Given the description of an element on the screen output the (x, y) to click on. 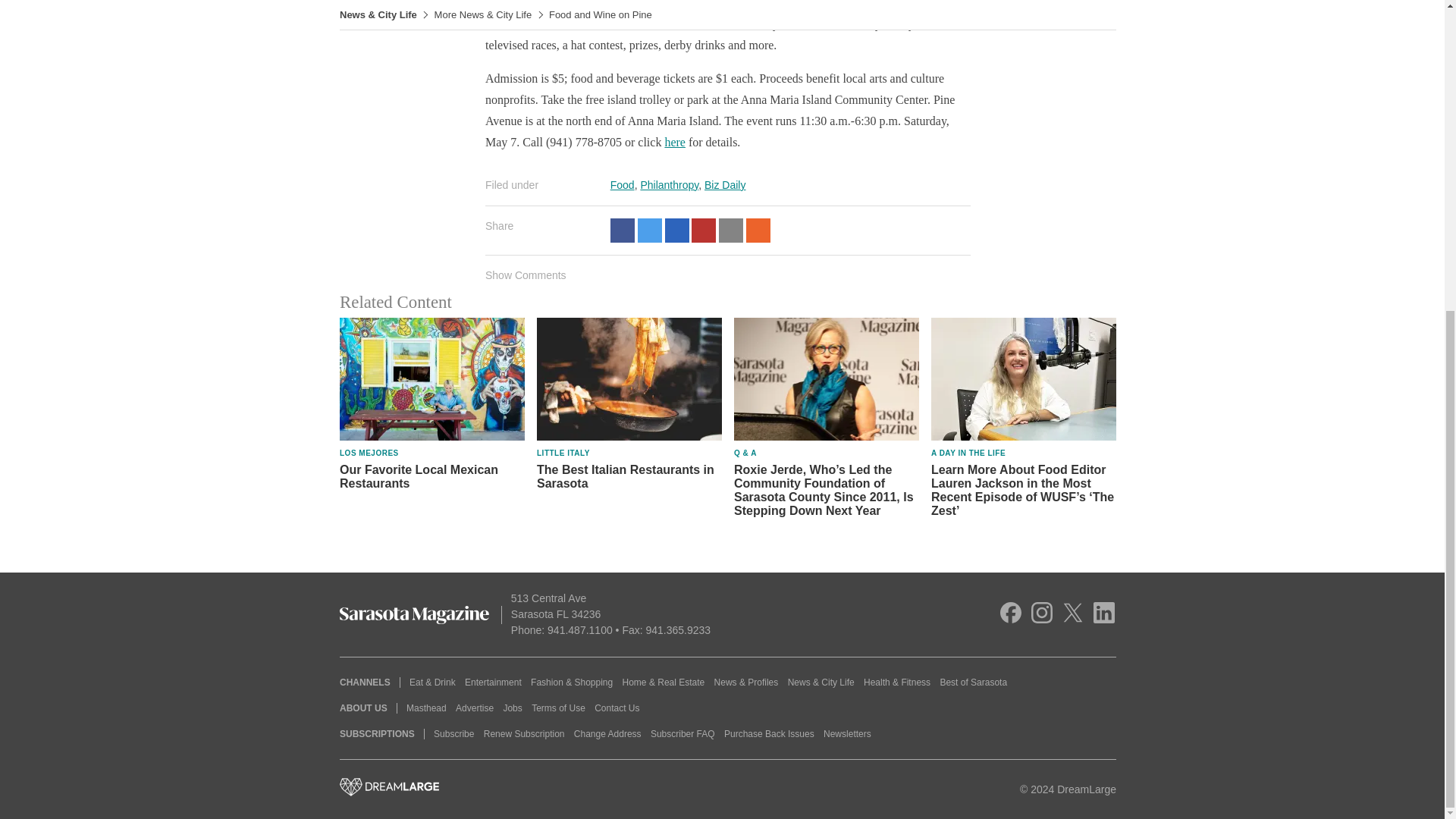
Share on Pinterest (703, 230)
Share on LinkedIn (675, 230)
Share on Twitter (649, 230)
Share via Email (730, 230)
Share on Reddit (757, 230)
Share on Facebook (622, 230)
